Given the description of an element on the screen output the (x, y) to click on. 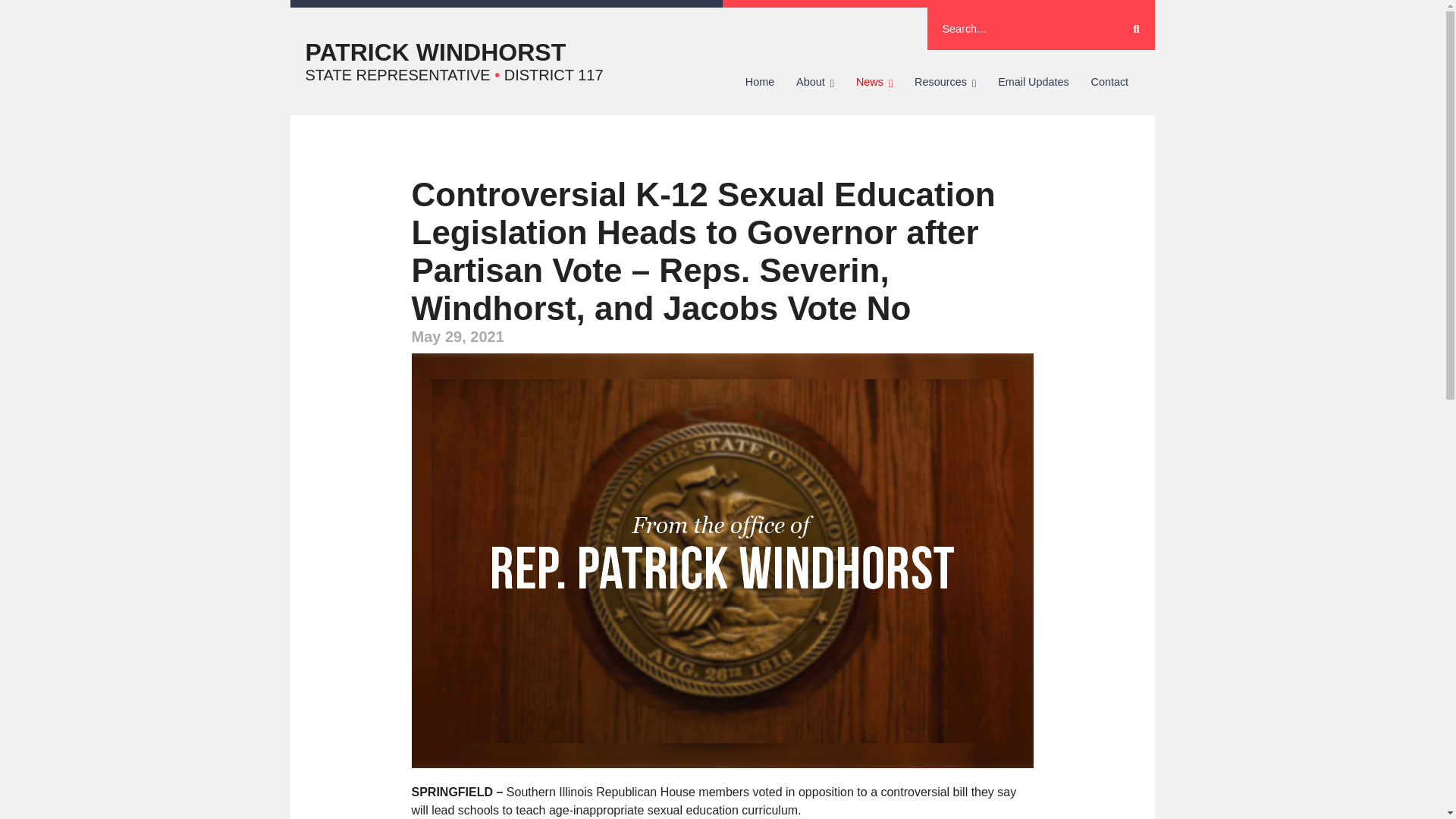
About (815, 82)
Email Updates (1033, 82)
Home (758, 82)
News (873, 82)
Contact (1109, 82)
Resources (945, 82)
